Given the description of an element on the screen output the (x, y) to click on. 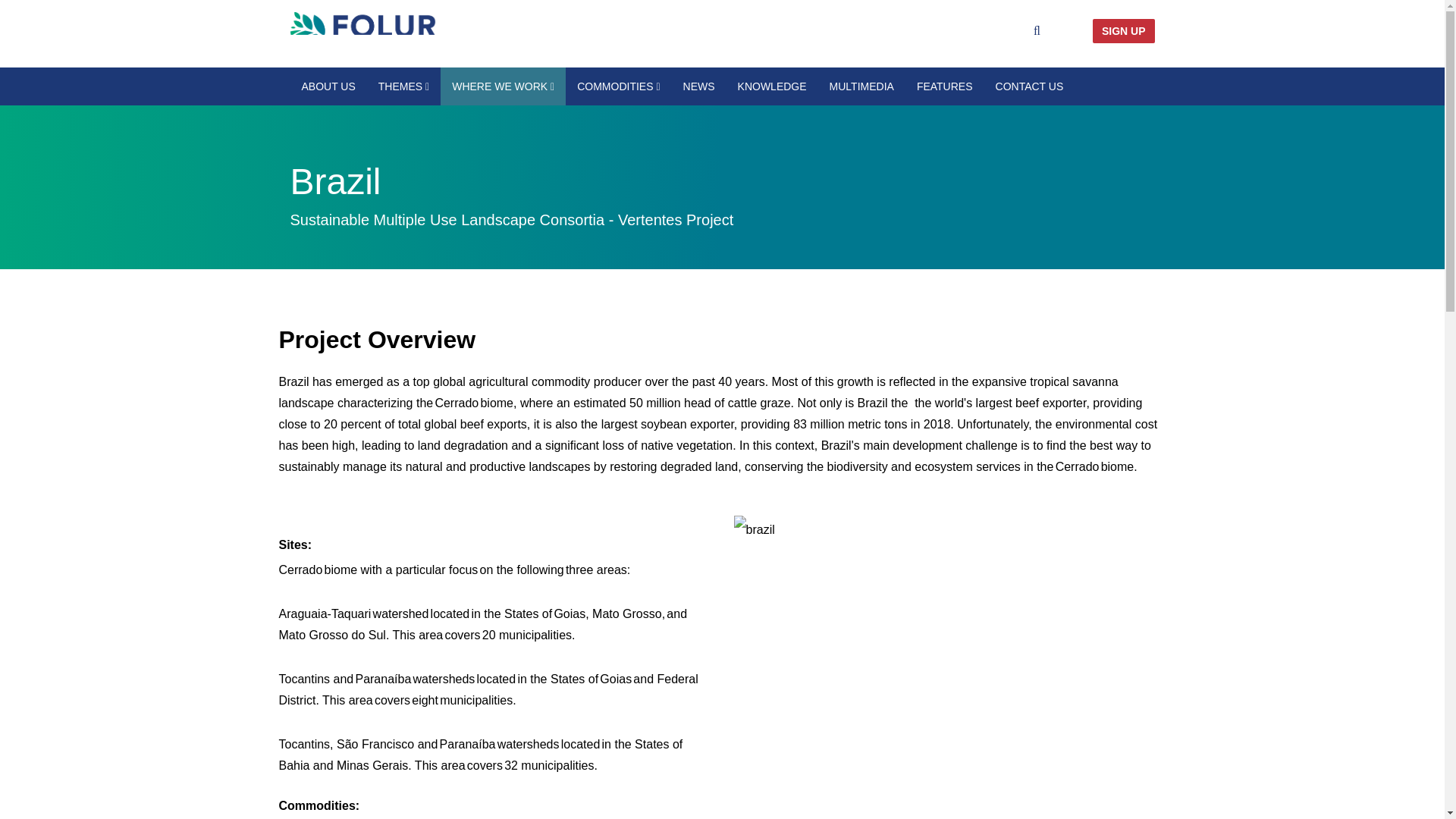
SIGN UP (1123, 30)
THEMES (403, 86)
ABOUT US (327, 86)
WHERE WE WORK (503, 86)
Home (499, 30)
